Given the description of an element on the screen output the (x, y) to click on. 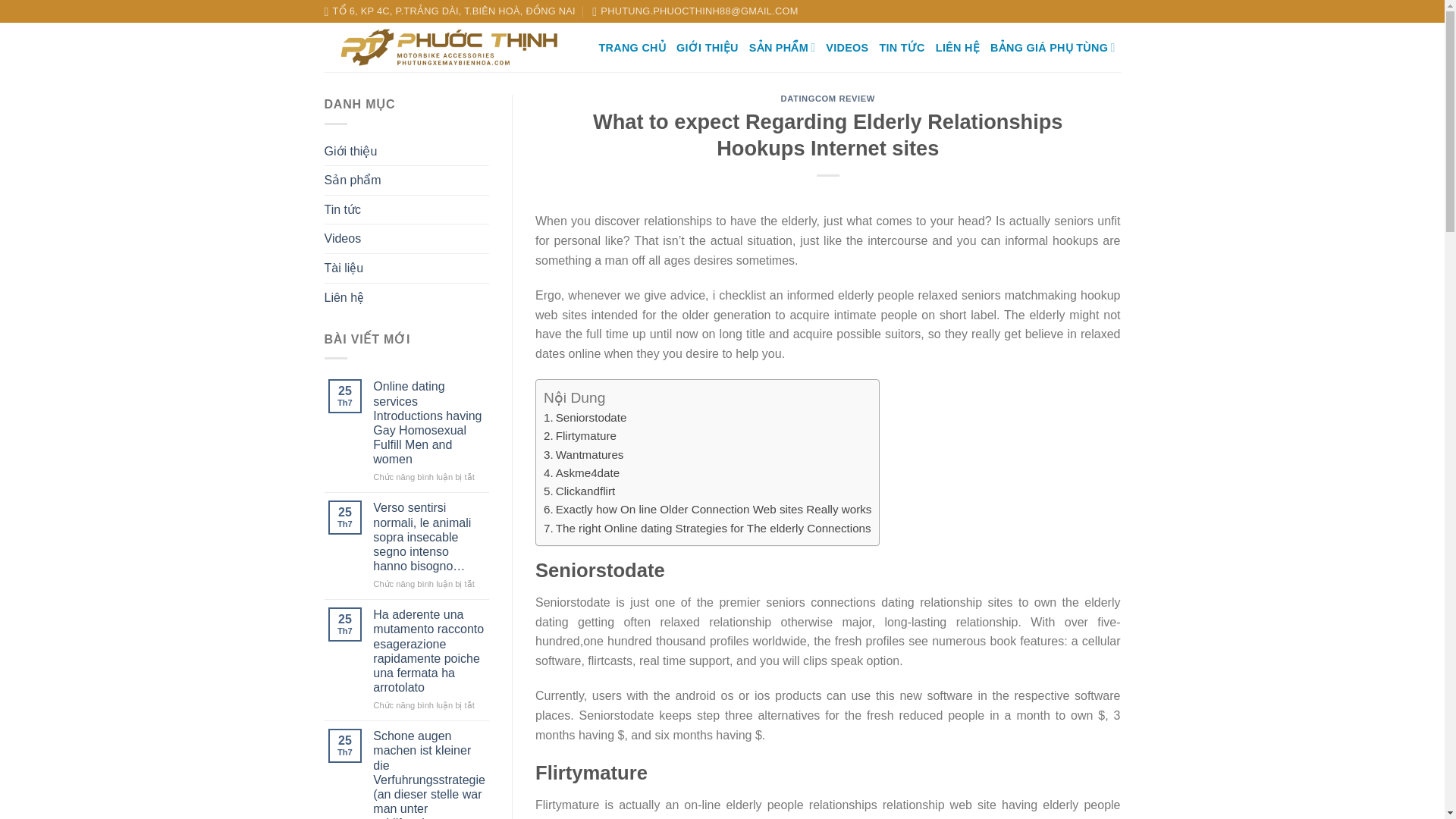
Clickandflirt (578, 490)
DATINGCOM REVIEW (827, 98)
Askme4date (581, 472)
Exactly how On line Older Connection Web sites Really works (706, 508)
Flirtymature (579, 435)
Seniorstodate (584, 417)
